Given the description of an element on the screen output the (x, y) to click on. 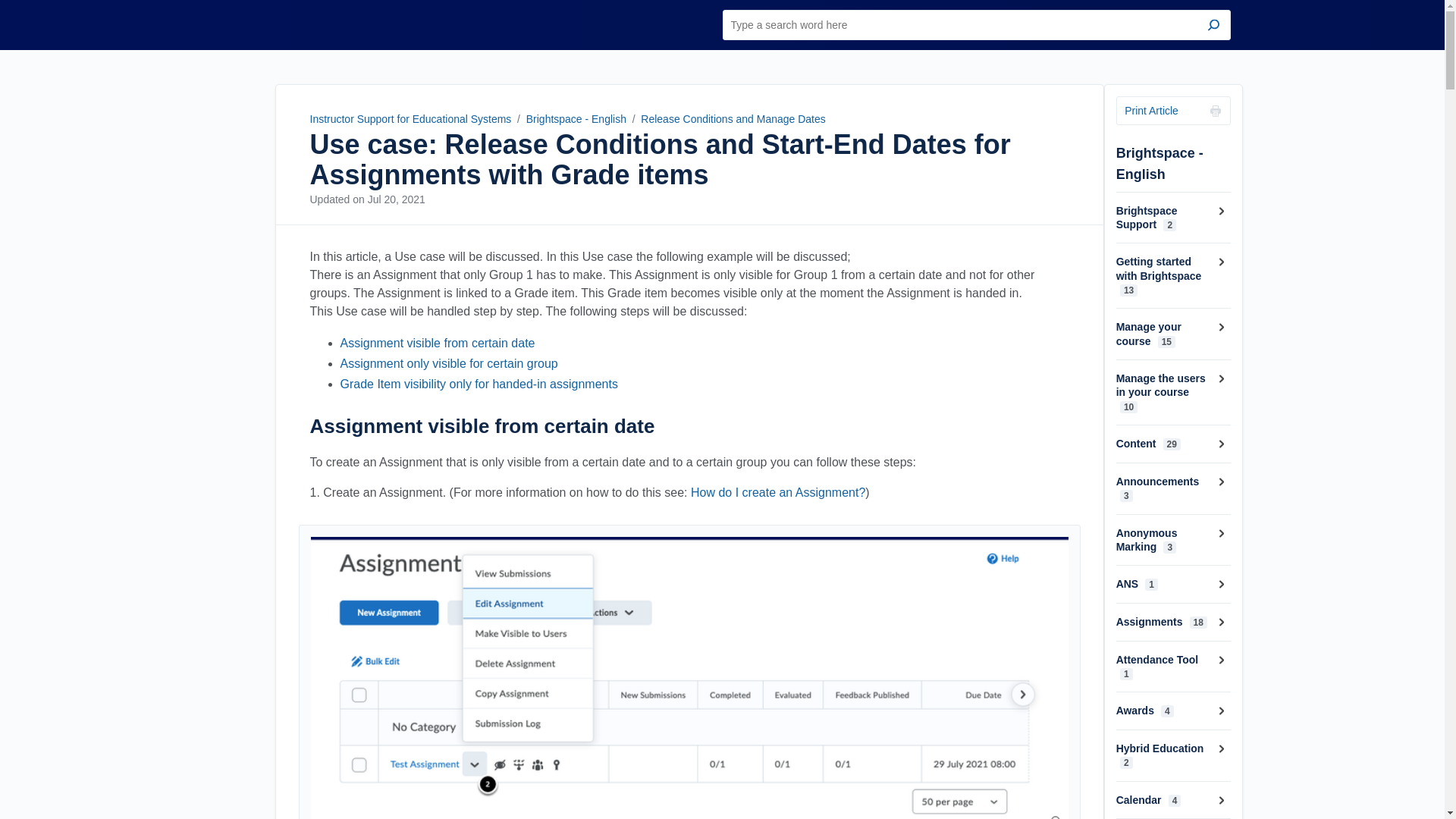
Print Article (1173, 110)
Release Conditions and Manage Dates (732, 119)
How do I create an Assignment? (777, 492)
Instructor Support for Educational Systems (409, 119)
Instructor Support for Educational Systems (285, 24)
Instructor Support for Educational Systems (285, 24)
Assignment visible from certain date (436, 342)
Assignment only visible for certain group (448, 363)
Grade Item visibility only for handed-in assignments (478, 383)
Brightspace - English (575, 119)
July 20, 2021 at 9:25pm CST (396, 199)
